Given the description of an element on the screen output the (x, y) to click on. 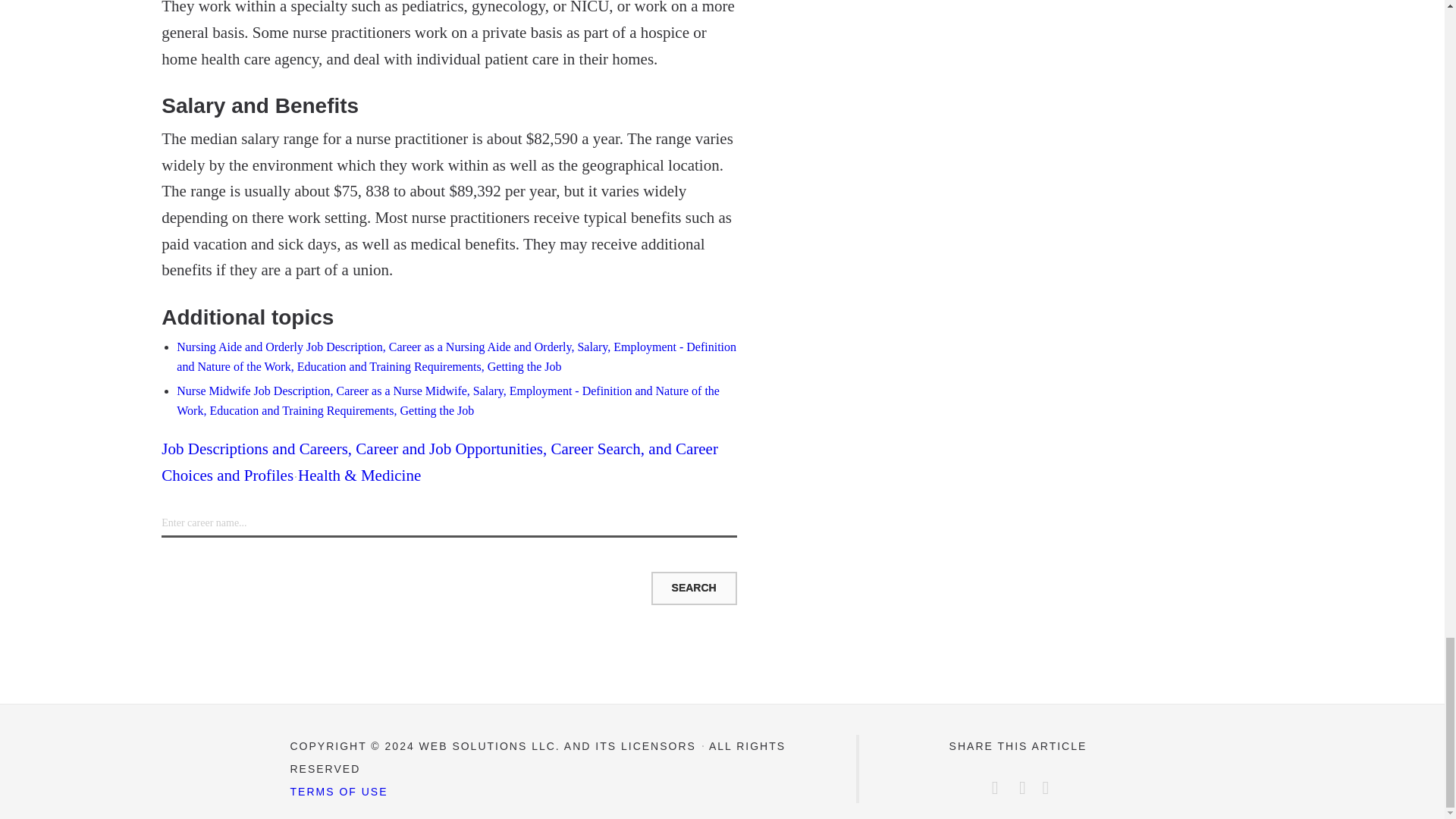
TERMS OF USE (338, 791)
Search (693, 588)
Search (693, 588)
